Given the description of an element on the screen output the (x, y) to click on. 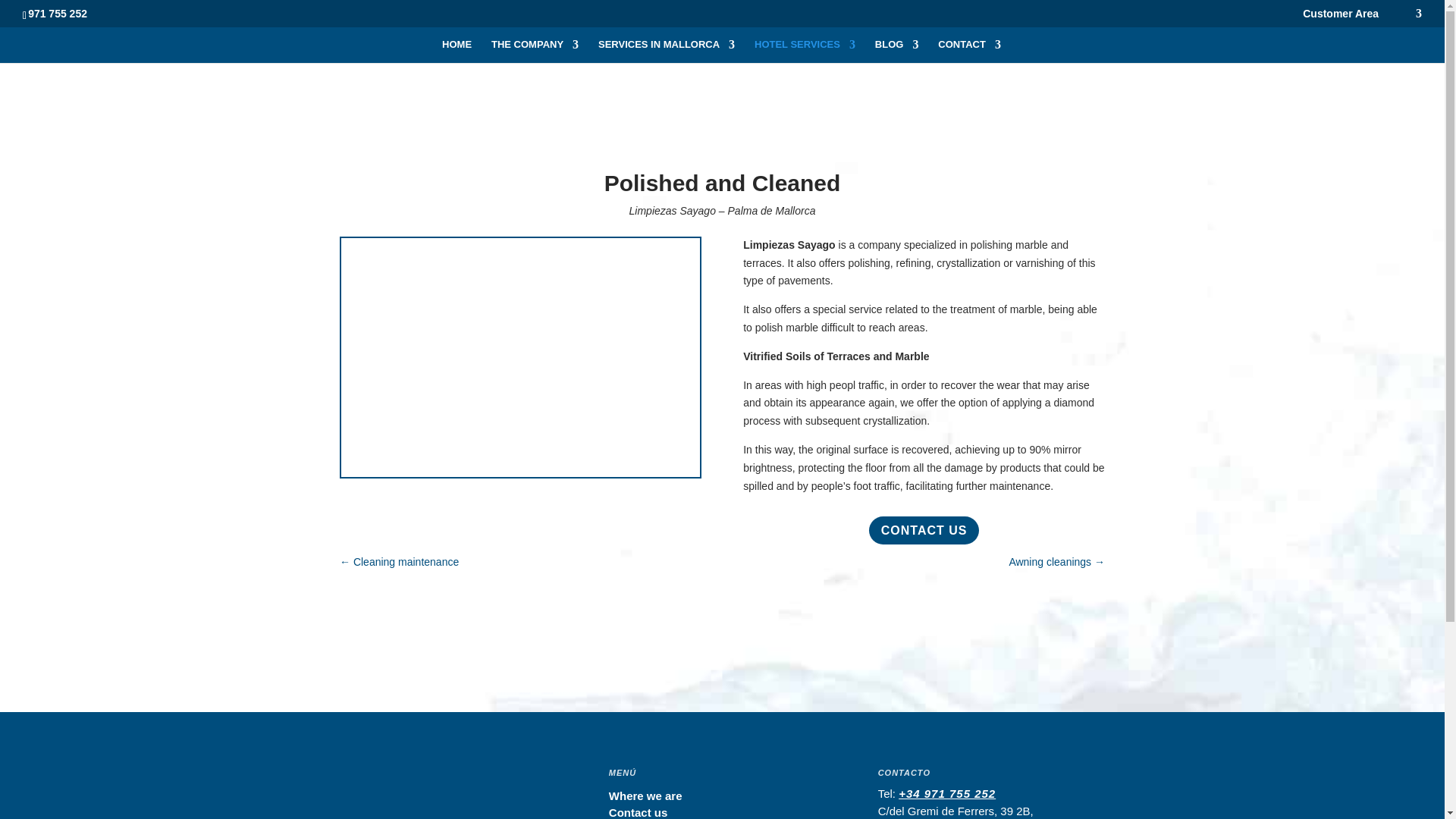
HOME (456, 51)
LIMPIEZAS-SAYAGO-VITRIFICADO DE SUELOS-3 (520, 472)
971 755 252 (57, 13)
SERVICES IN MALLORCA (666, 51)
LOGO-EMPRESA.png (419, 794)
HOTEL SERVICES (805, 51)
THE COMPANY (535, 51)
Customer Area (1340, 16)
